Given the description of an element on the screen output the (x, y) to click on. 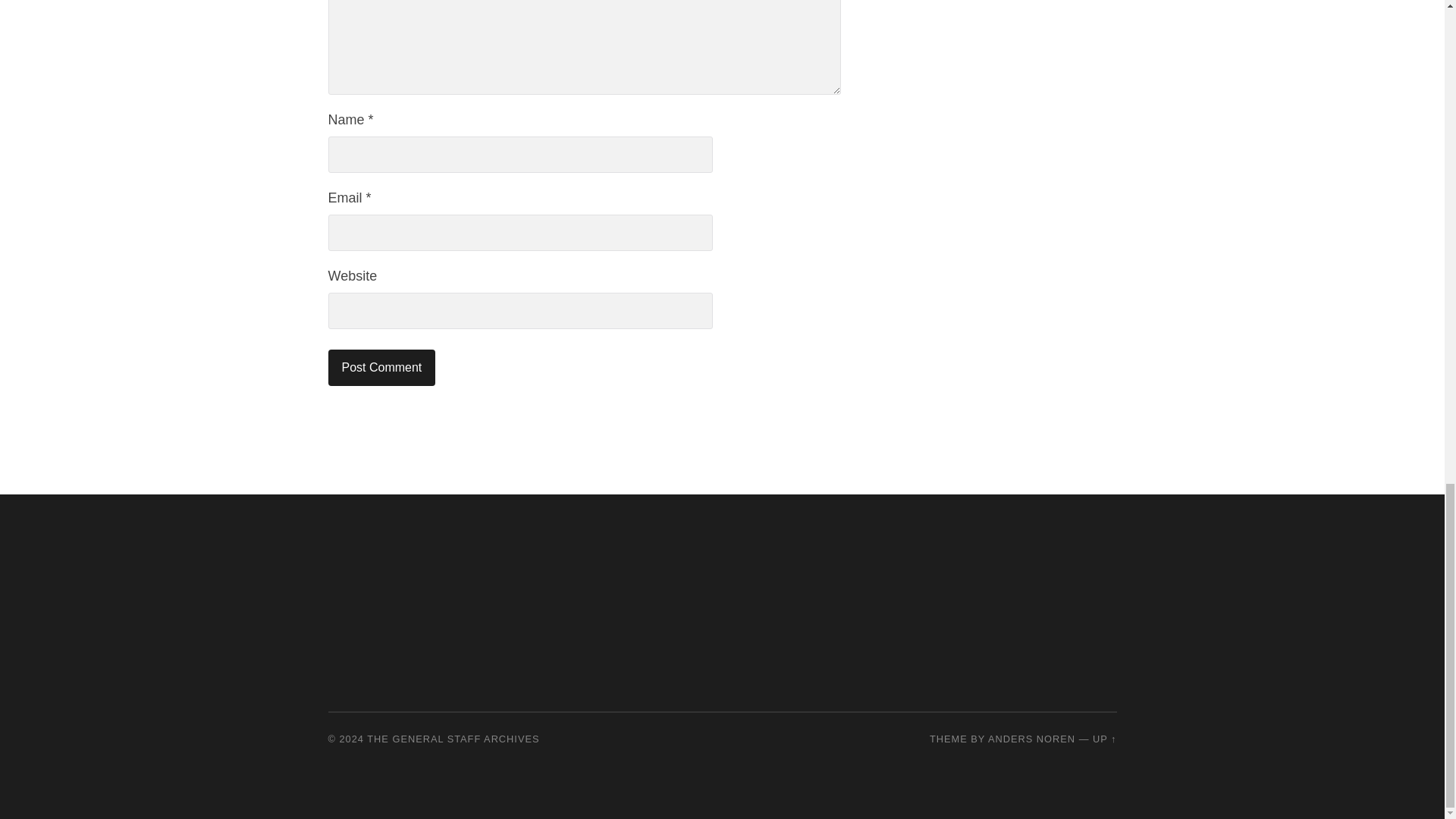
To the top (1104, 738)
Post Comment (381, 367)
